Given the description of an element on the screen output the (x, y) to click on. 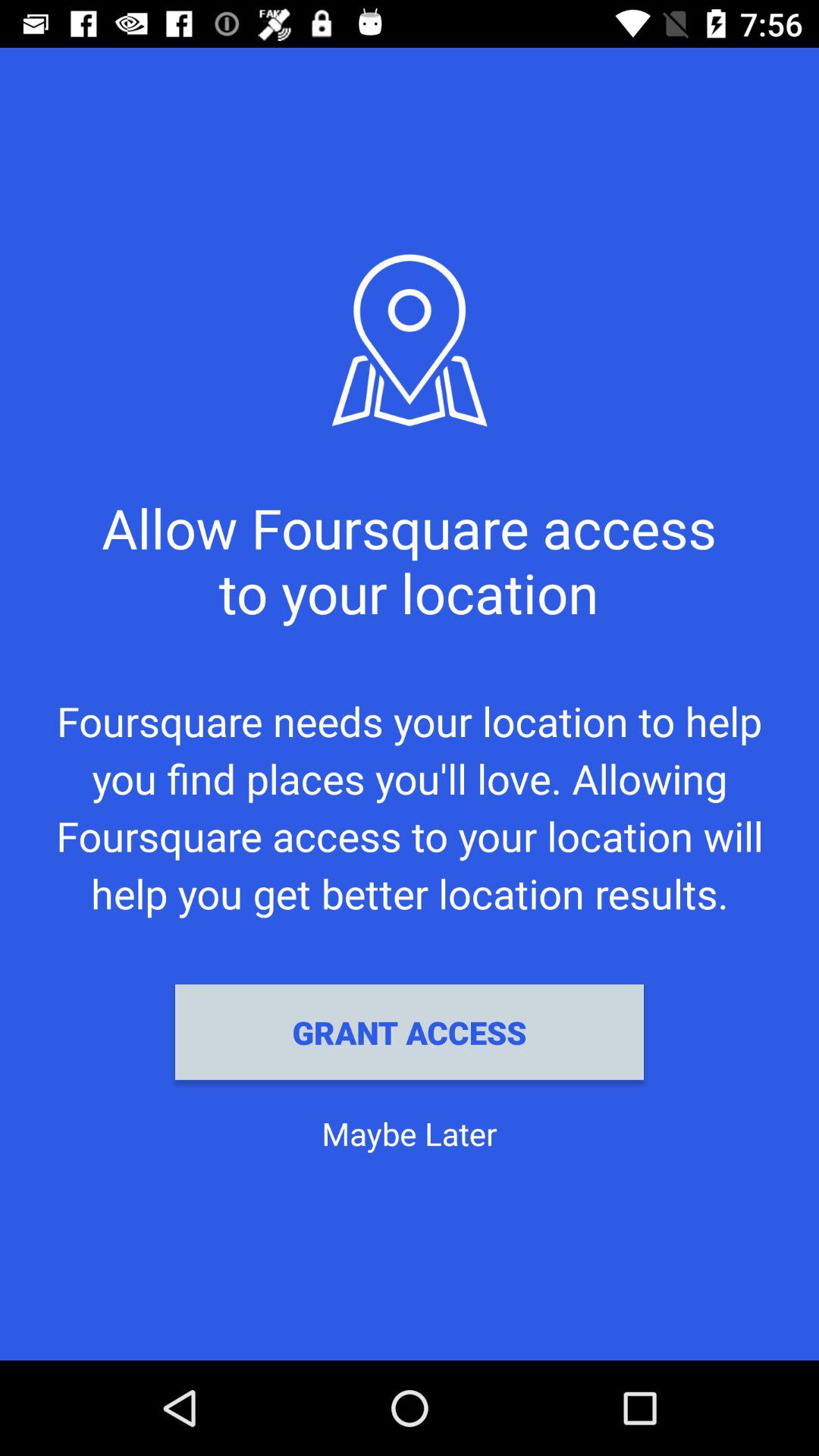
launch the item below the foursquare needs your (409, 1032)
